Given the description of an element on the screen output the (x, y) to click on. 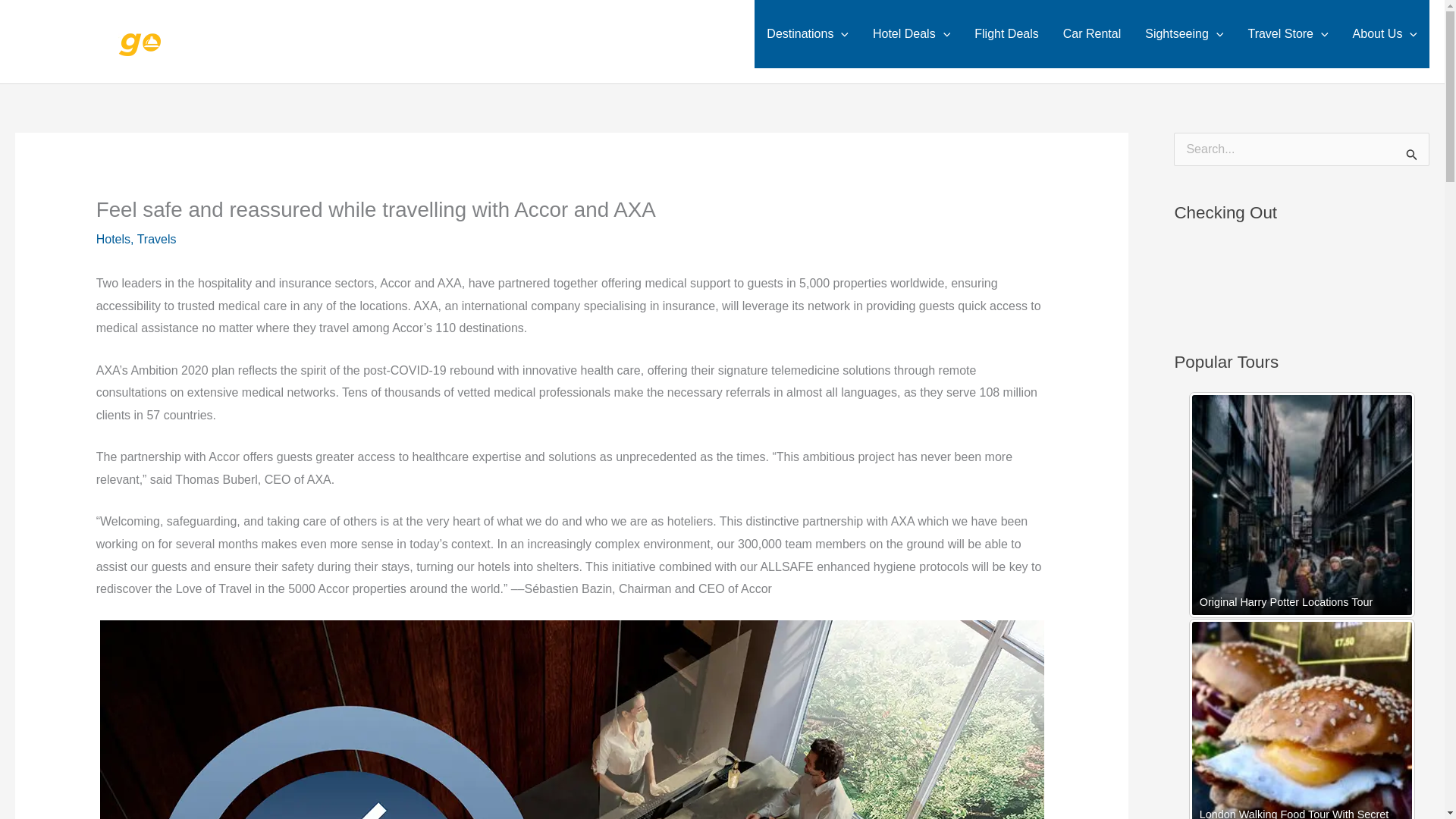
Destinations (807, 33)
Hotel Deals (911, 33)
Flight Deals (1005, 33)
Sightseeing (1183, 33)
Car Rental (1091, 33)
Travel Store (1286, 33)
About Us (1384, 33)
